Given the description of an element on the screen output the (x, y) to click on. 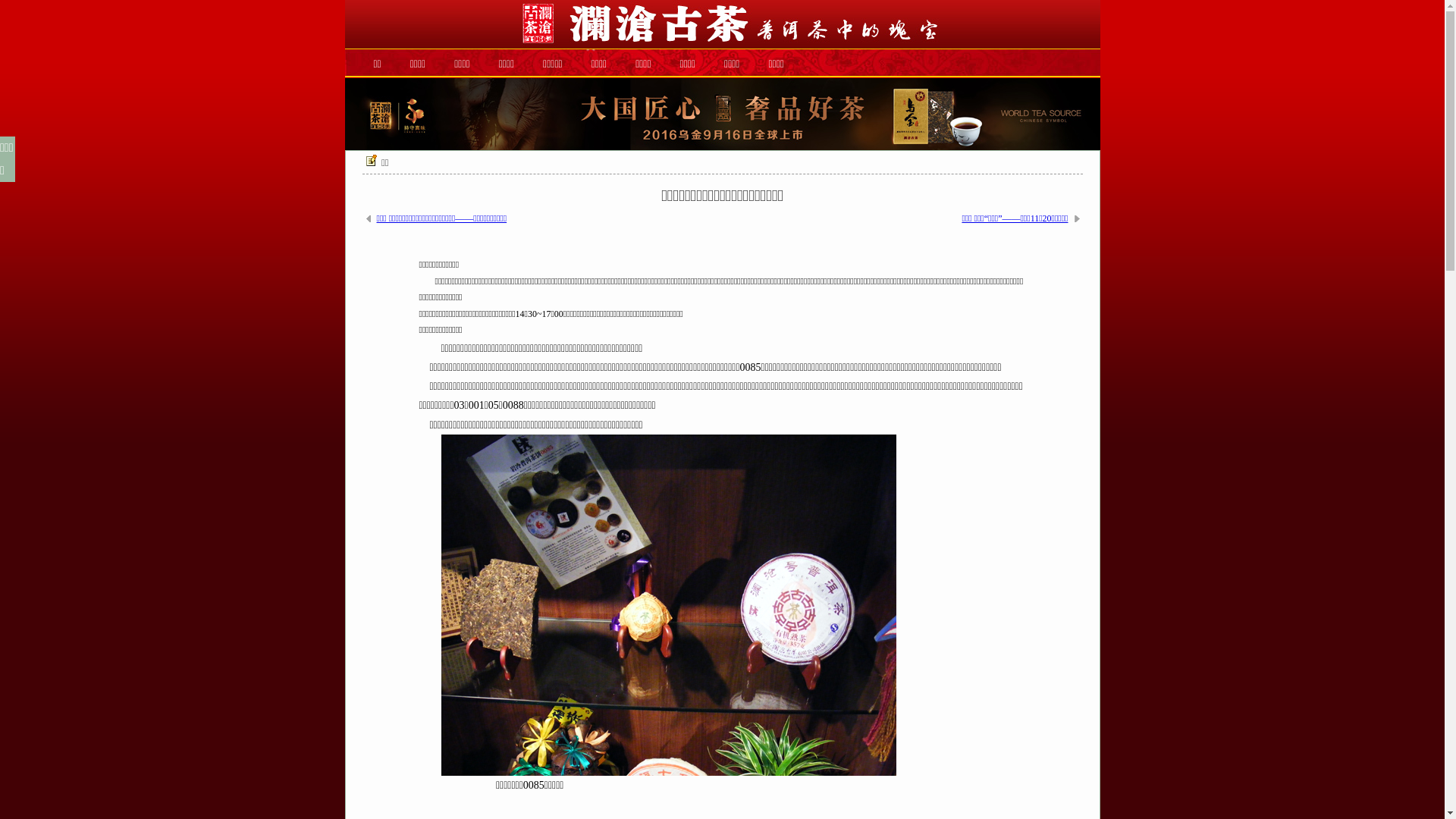
member Element type: text (721, 114)
